Given the description of an element on the screen output the (x, y) to click on. 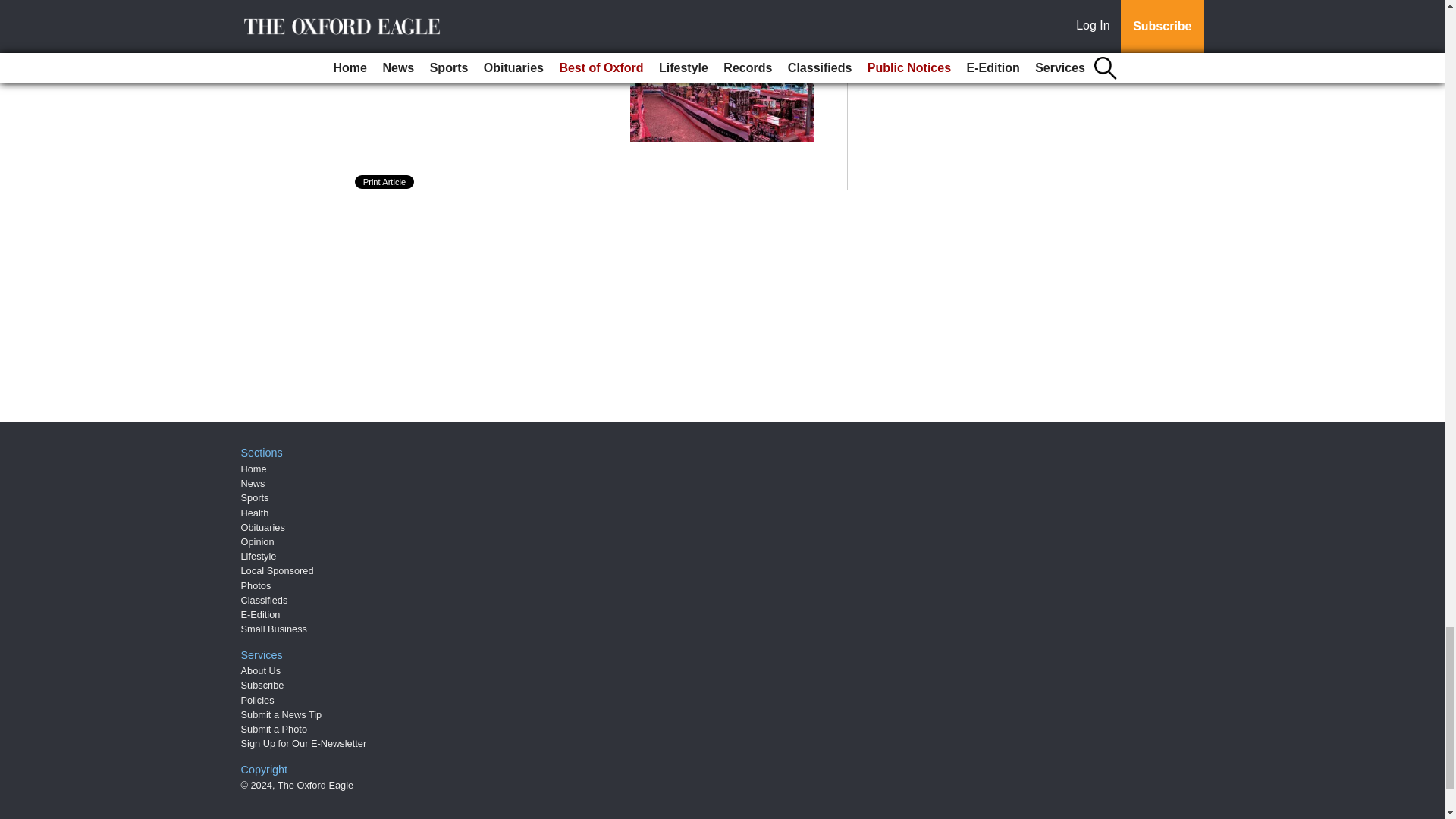
Print Article (384, 182)
Obituaries (263, 527)
Fireworks sales increasing as Fourth of July gets closer (479, 58)
News (252, 482)
Health (255, 512)
Sports (255, 497)
Fireworks sales increasing as Fourth of July gets closer (479, 58)
Home (253, 469)
